Given the description of an element on the screen output the (x, y) to click on. 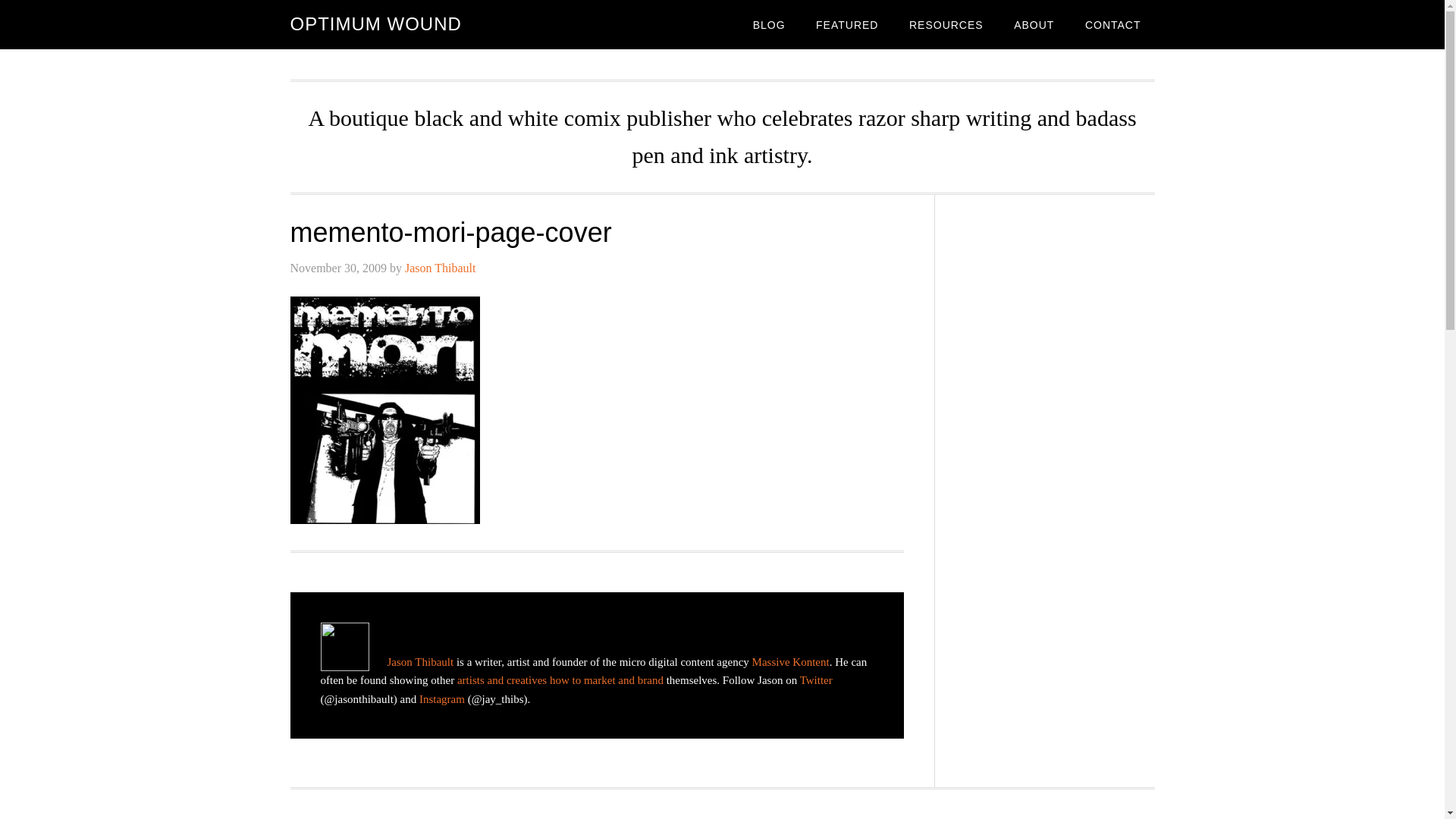
Jason Thibault (419, 662)
artists and creatives how to market and brand (560, 680)
OPTIMUM WOUND (375, 23)
Twitter (815, 680)
ABOUT (1033, 24)
Massive Kontent (790, 662)
Jason Thibault (440, 267)
RESOURCES (946, 24)
Instagram (441, 698)
CONTACT (1112, 24)
BLOG (769, 24)
FEATURED (846, 24)
